Given the description of an element on the screen output the (x, y) to click on. 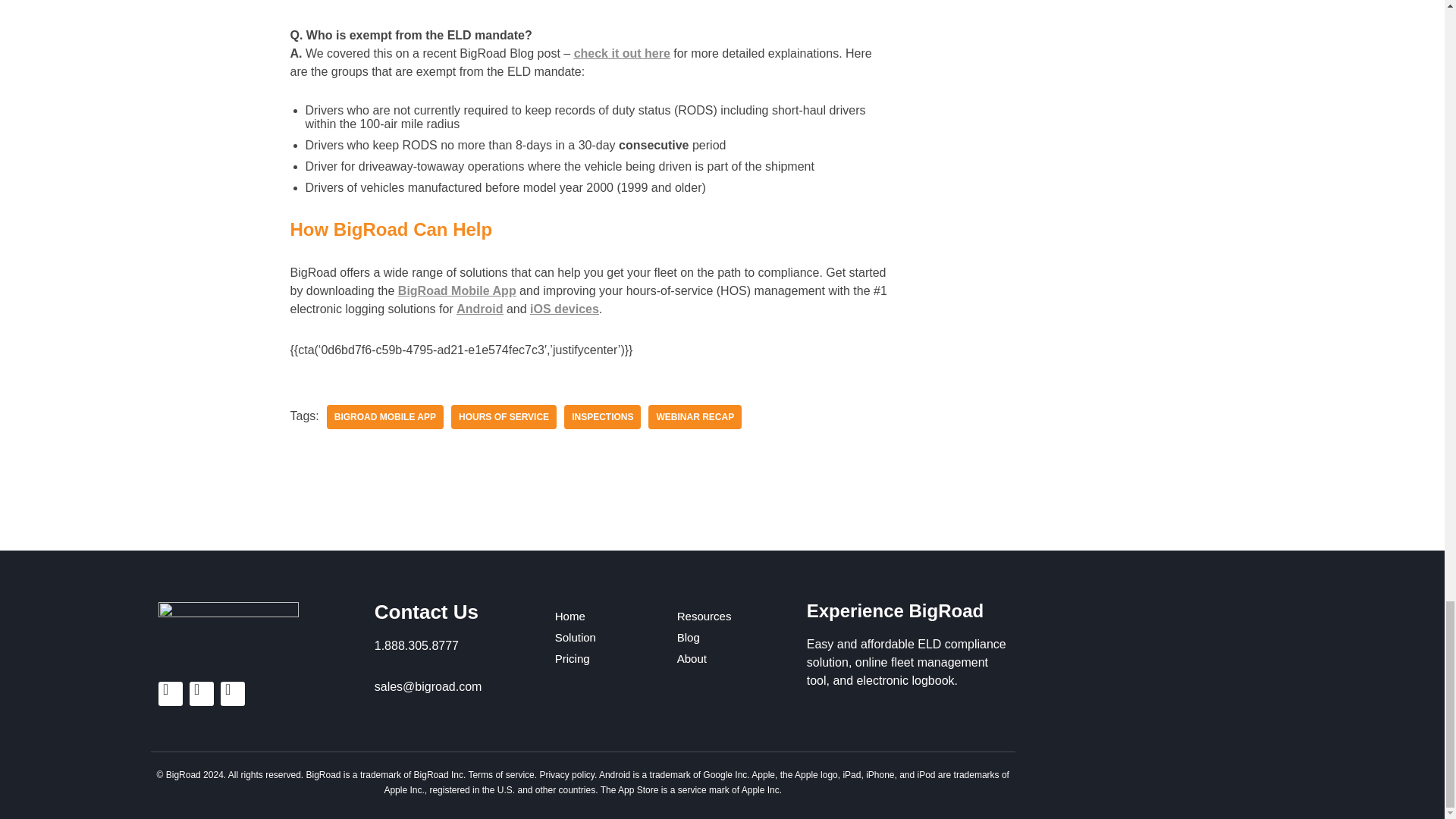
hours of service (503, 416)
Inspections (602, 416)
Webinar Recap (694, 416)
BigRoad Mobile App (385, 416)
